Given the description of an element on the screen output the (x, y) to click on. 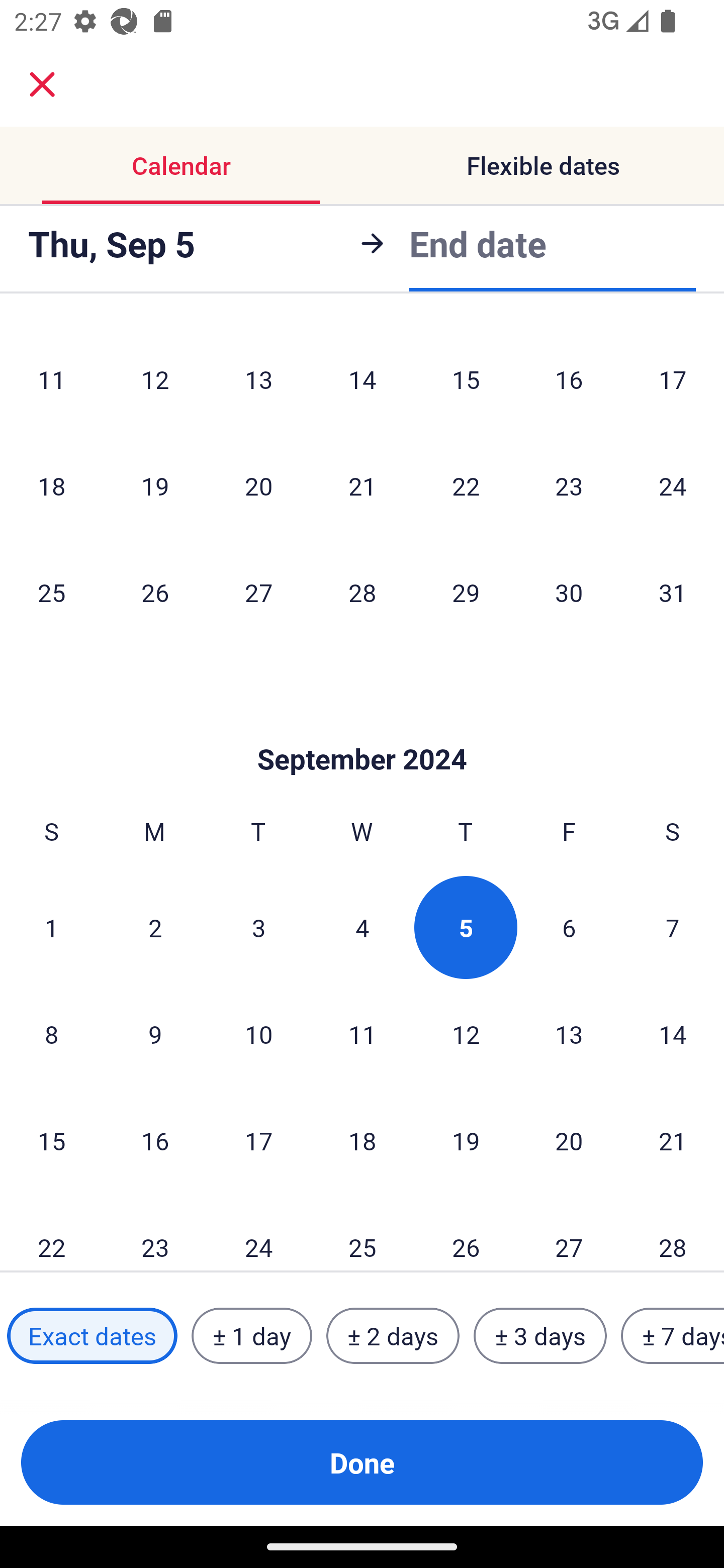
close. (42, 84)
Flexible dates (542, 164)
End date (477, 240)
11 Sunday, August 11, 2024 (51, 379)
12 Monday, August 12, 2024 (155, 379)
13 Tuesday, August 13, 2024 (258, 379)
14 Wednesday, August 14, 2024 (362, 379)
15 Thursday, August 15, 2024 (465, 379)
16 Friday, August 16, 2024 (569, 379)
17 Saturday, August 17, 2024 (672, 379)
18 Sunday, August 18, 2024 (51, 485)
19 Monday, August 19, 2024 (155, 485)
20 Tuesday, August 20, 2024 (258, 485)
21 Wednesday, August 21, 2024 (362, 485)
22 Thursday, August 22, 2024 (465, 485)
23 Friday, August 23, 2024 (569, 485)
24 Saturday, August 24, 2024 (672, 485)
25 Sunday, August 25, 2024 (51, 592)
26 Monday, August 26, 2024 (155, 592)
27 Tuesday, August 27, 2024 (258, 592)
28 Wednesday, August 28, 2024 (362, 592)
29 Thursday, August 29, 2024 (465, 592)
30 Friday, August 30, 2024 (569, 592)
31 Saturday, August 31, 2024 (672, 592)
Skip to Done (362, 728)
1 Sunday, September 1, 2024 (51, 927)
2 Monday, September 2, 2024 (155, 927)
3 Tuesday, September 3, 2024 (258, 927)
4 Wednesday, September 4, 2024 (362, 927)
6 Friday, September 6, 2024 (569, 927)
7 Saturday, September 7, 2024 (672, 927)
8 Sunday, September 8, 2024 (51, 1034)
9 Monday, September 9, 2024 (155, 1034)
10 Tuesday, September 10, 2024 (258, 1034)
11 Wednesday, September 11, 2024 (362, 1034)
12 Thursday, September 12, 2024 (465, 1034)
13 Friday, September 13, 2024 (569, 1034)
14 Saturday, September 14, 2024 (672, 1034)
15 Sunday, September 15, 2024 (51, 1140)
16 Monday, September 16, 2024 (155, 1140)
17 Tuesday, September 17, 2024 (258, 1140)
18 Wednesday, September 18, 2024 (362, 1140)
19 Thursday, September 19, 2024 (465, 1140)
20 Friday, September 20, 2024 (569, 1140)
21 Saturday, September 21, 2024 (672, 1140)
22 Sunday, September 22, 2024 (51, 1232)
23 Monday, September 23, 2024 (155, 1232)
24 Tuesday, September 24, 2024 (258, 1232)
25 Wednesday, September 25, 2024 (362, 1232)
26 Thursday, September 26, 2024 (465, 1232)
27 Friday, September 27, 2024 (569, 1232)
28 Saturday, September 28, 2024 (672, 1232)
Exact dates (92, 1335)
± 1 day (251, 1335)
± 2 days (392, 1335)
± 3 days (539, 1335)
± 7 days (672, 1335)
Done (361, 1462)
